Given the description of an element on the screen output the (x, y) to click on. 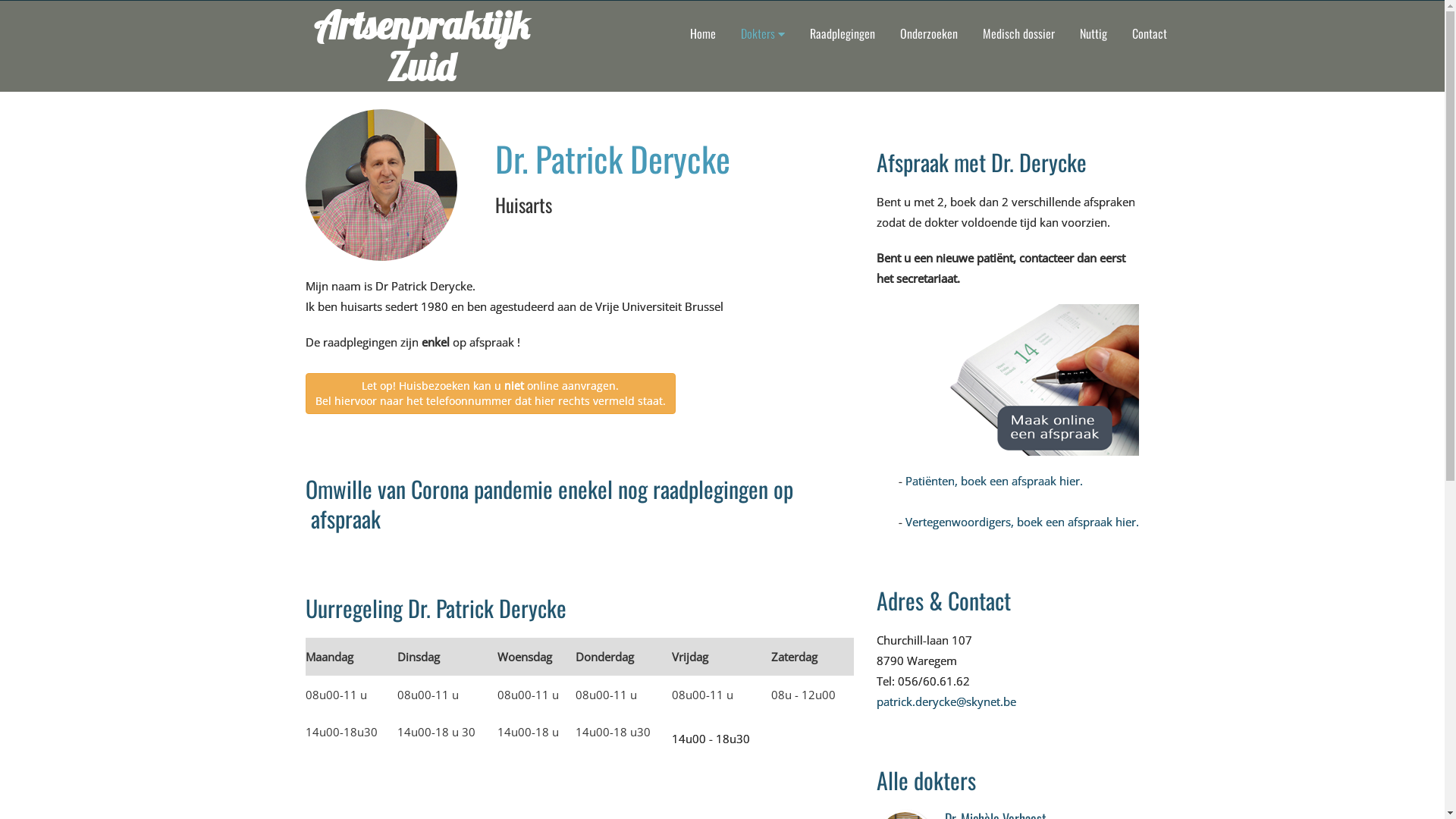
patrick.derycke@skynet.be Element type: text (946, 701)
Home Element type: text (702, 32)
Medisch dossier Element type: text (1018, 32)
Vertegenwoordigers, boek een afspraak hier. Element type: text (1022, 521)
Dokters Element type: text (762, 32)
Raadplegingen Element type: text (842, 32)
Onderzoeken Element type: text (928, 32)
Nuttig Element type: text (1093, 32)
Contact Element type: text (1149, 32)
